Given the description of an element on the screen output the (x, y) to click on. 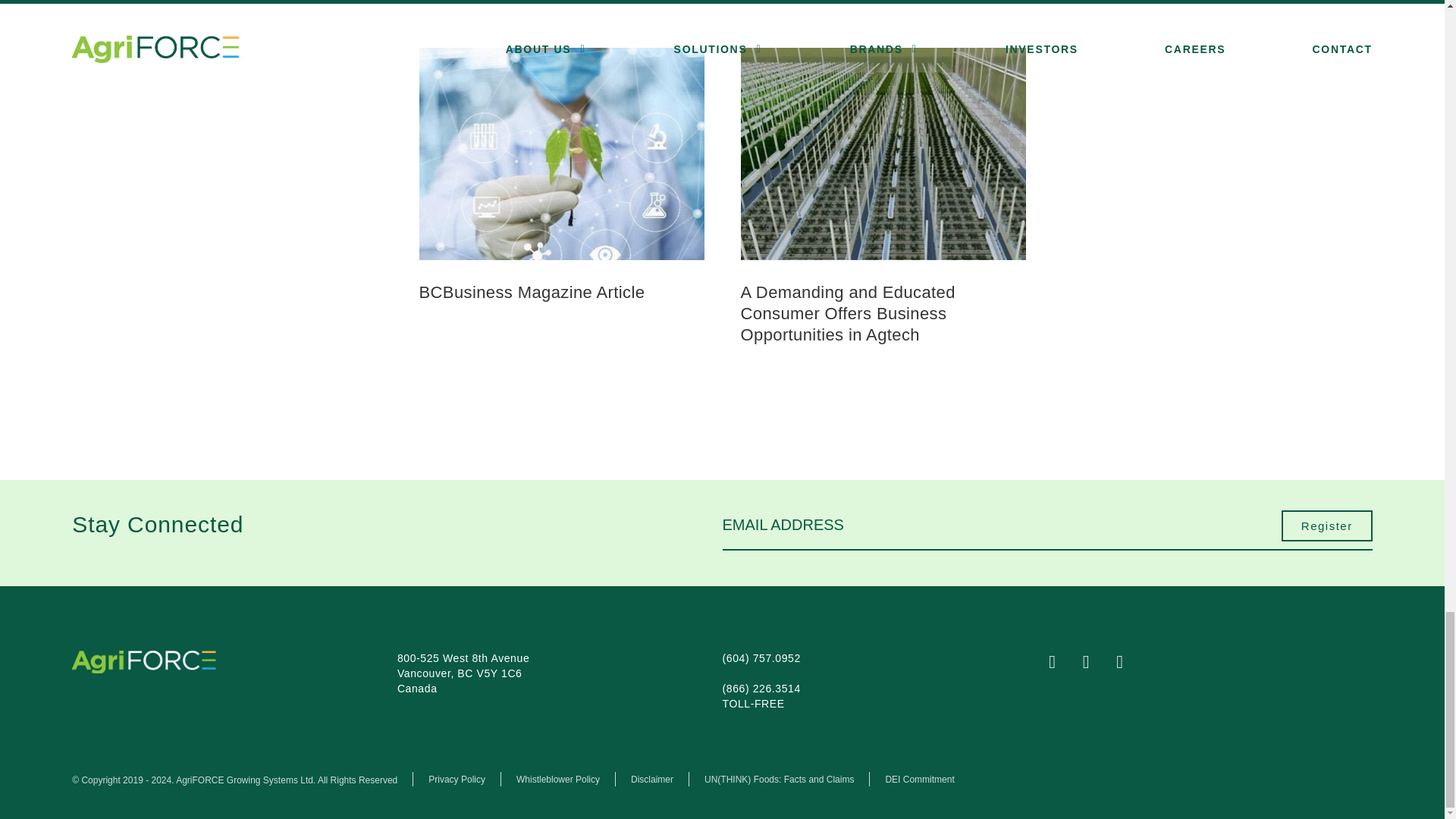
BCBusiness Magazine Article (532, 291)
Follow us on Twitter (1096, 663)
Whistleblower Policy (557, 778)
Connect with us on LinkedIn (1129, 663)
DEI Commitment (919, 778)
Disclaimer (651, 778)
Like us on Facebook (1061, 663)
Privacy Policy (456, 778)
Register (1327, 526)
Register (1327, 526)
